Given the description of an element on the screen output the (x, y) to click on. 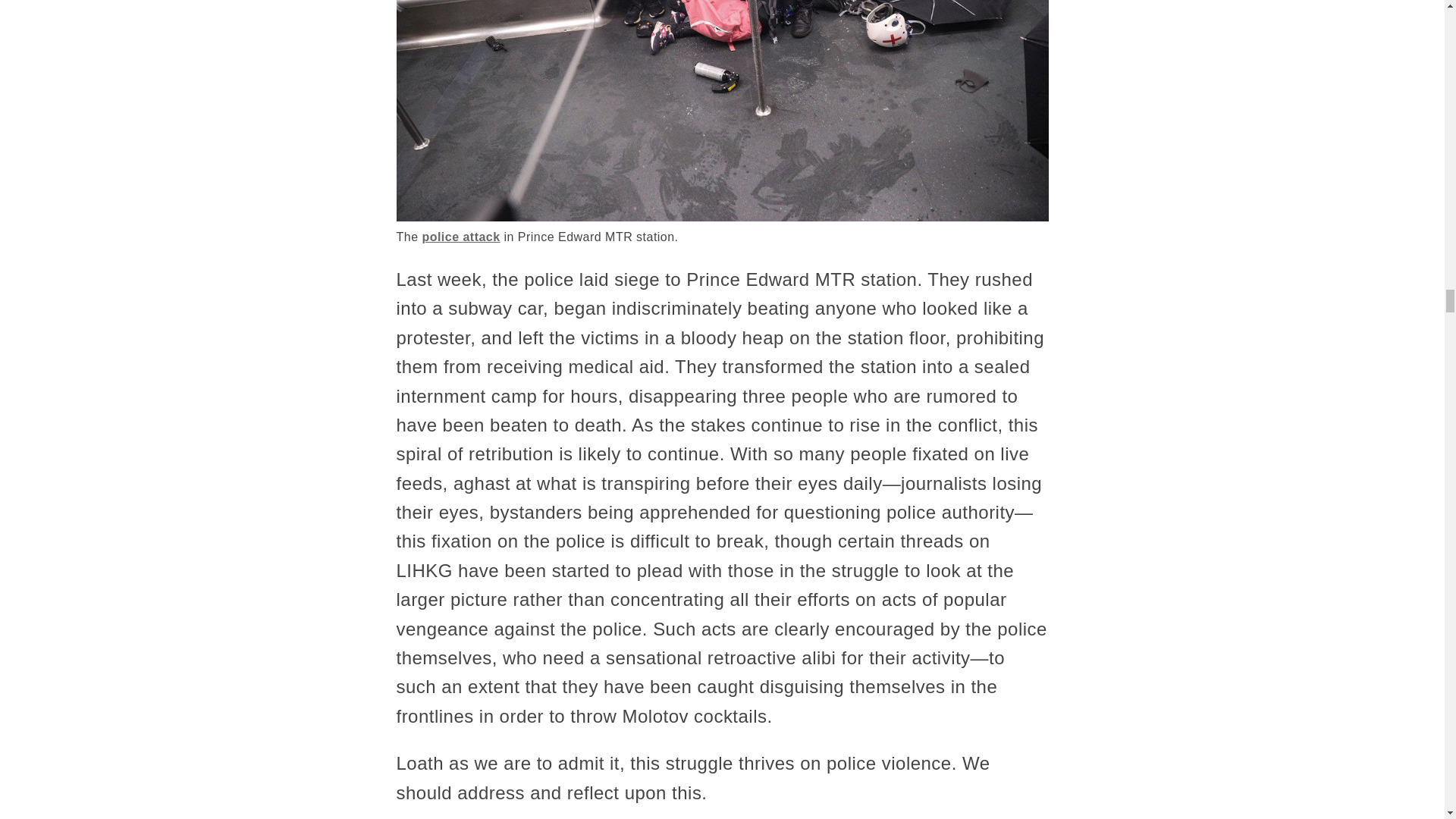
police attack (460, 236)
